Given the description of an element on the screen output the (x, y) to click on. 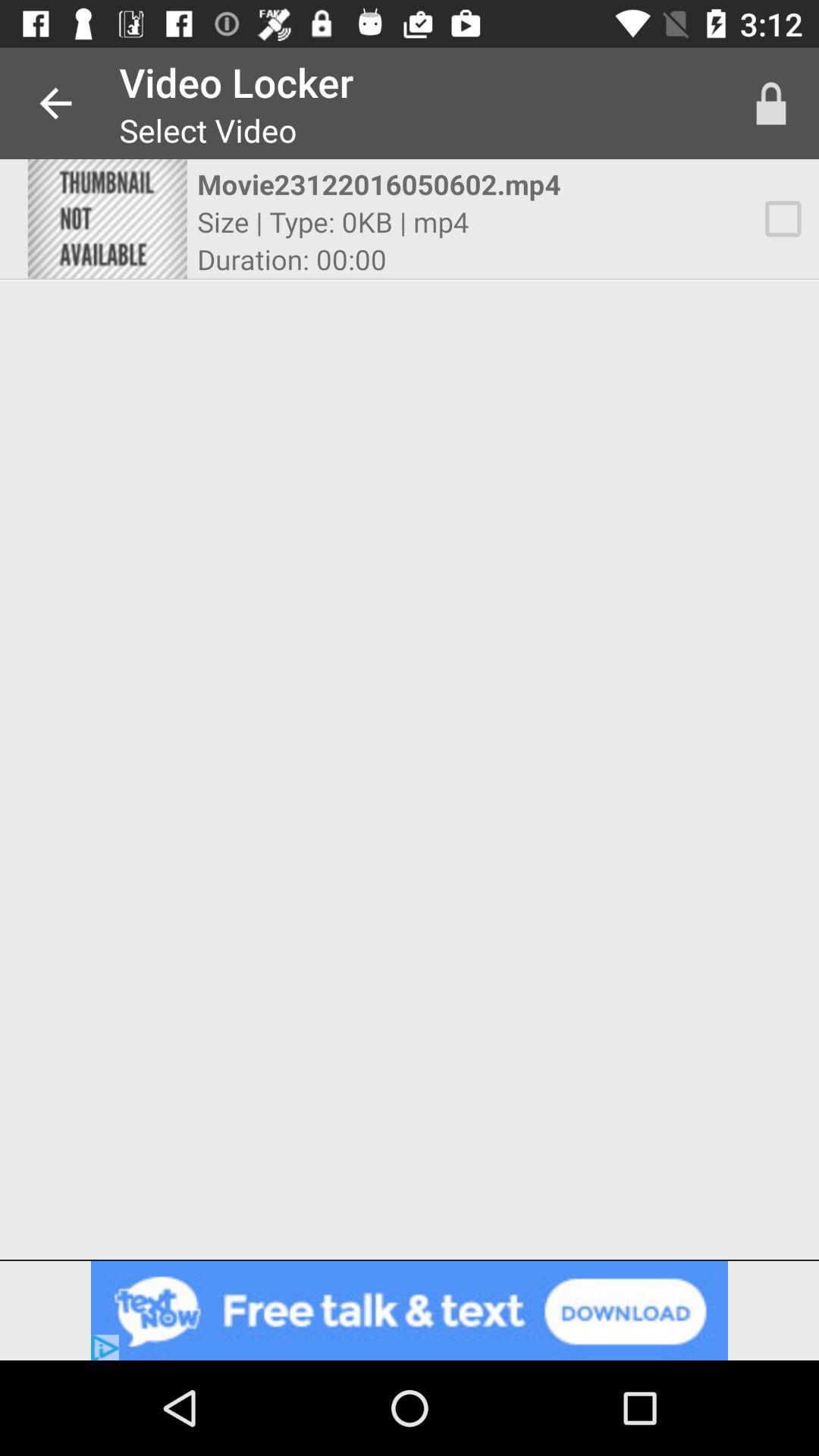
flip until the duration: 00:00 (291, 259)
